Given the description of an element on the screen output the (x, y) to click on. 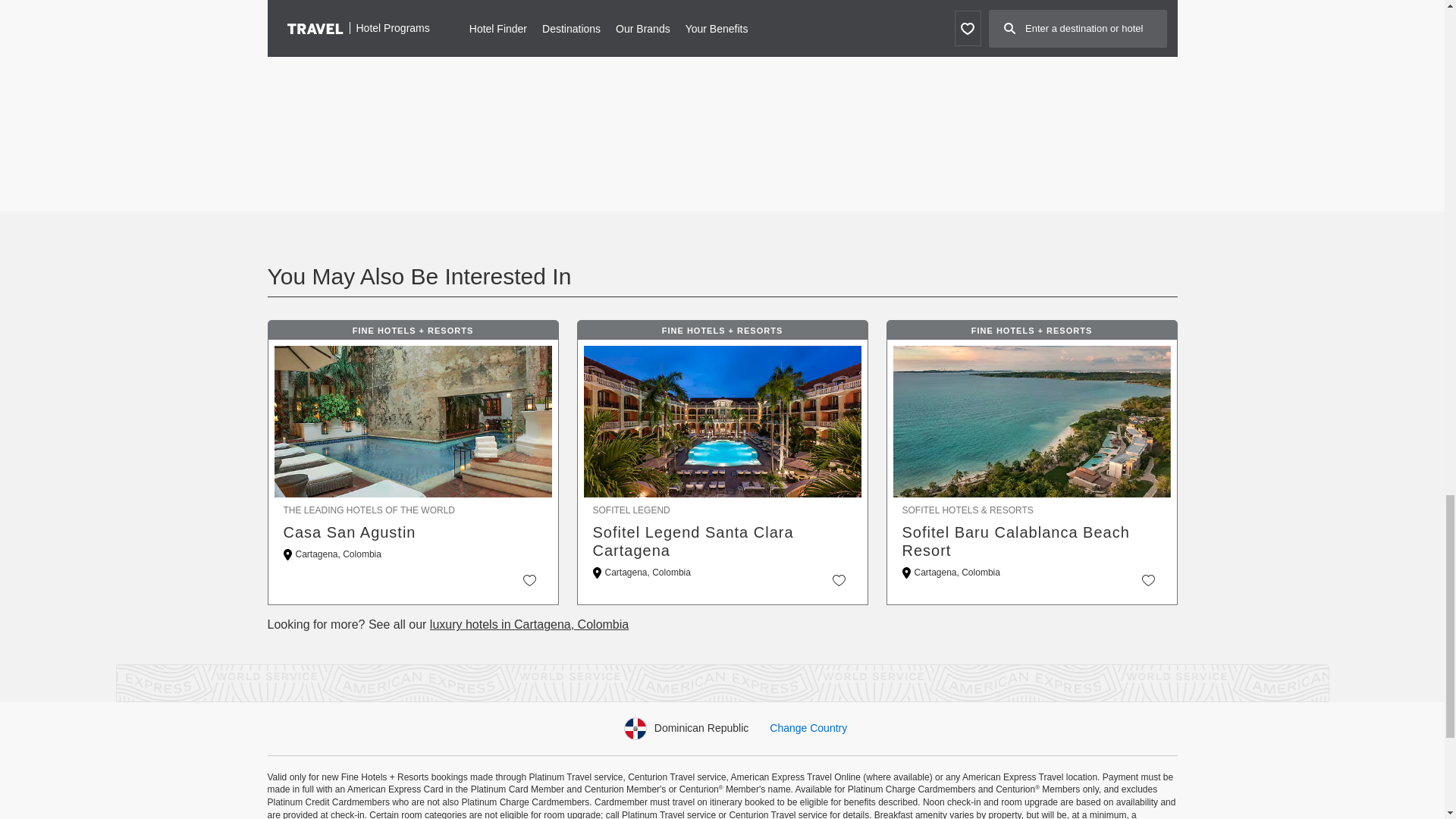
Casa San Agustin (413, 532)
luxury hotels in Cartagena, Colombia (528, 624)
Change Country (808, 727)
Sofitel Baru Calablanca Beach Resort (1031, 541)
Sofitel Legend Santa Clara Cartagena (721, 541)
